Given the description of an element on the screen output the (x, y) to click on. 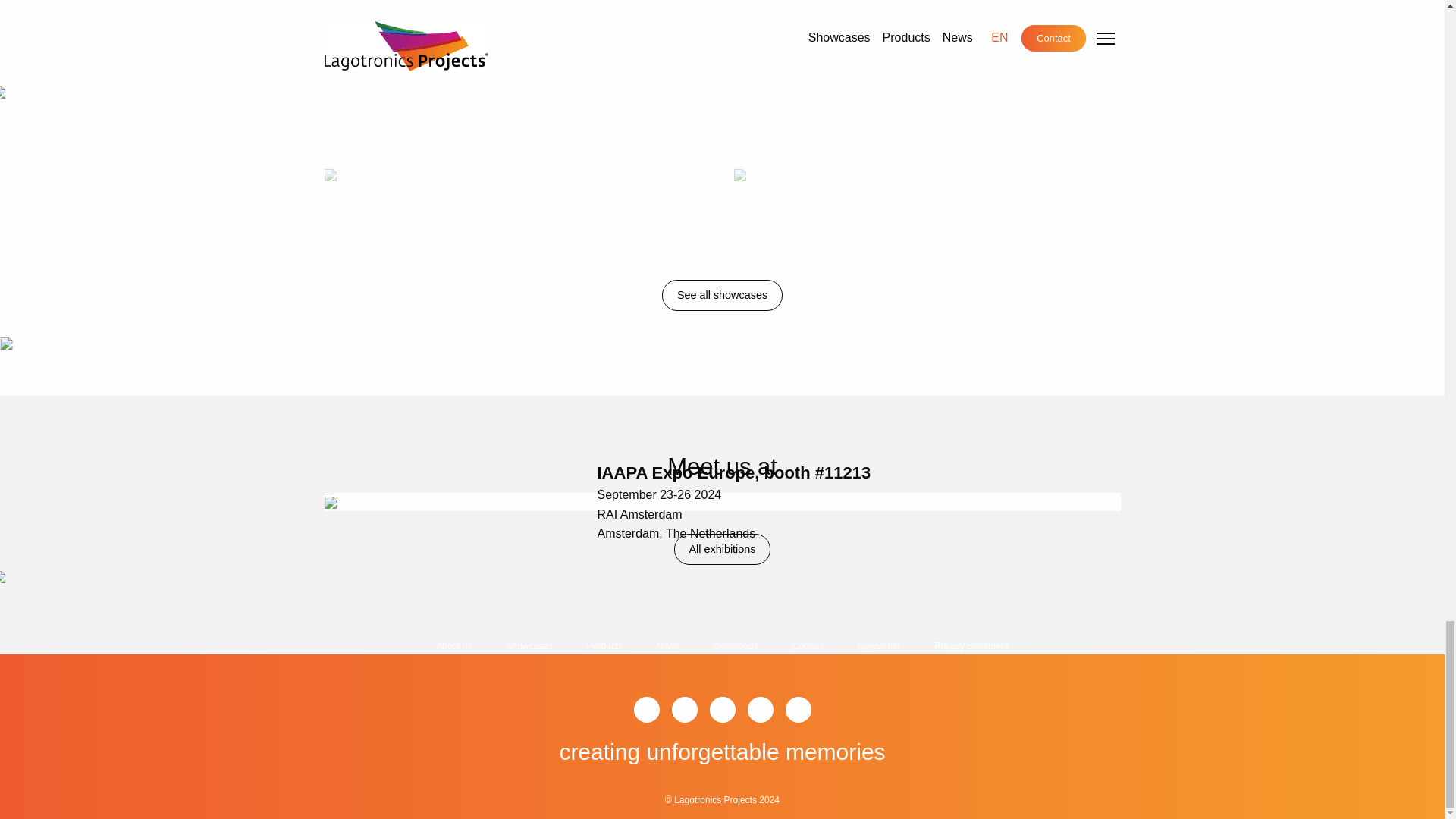
All exhibitions (722, 549)
See all showcases (722, 295)
